Given the description of an element on the screen output the (x, y) to click on. 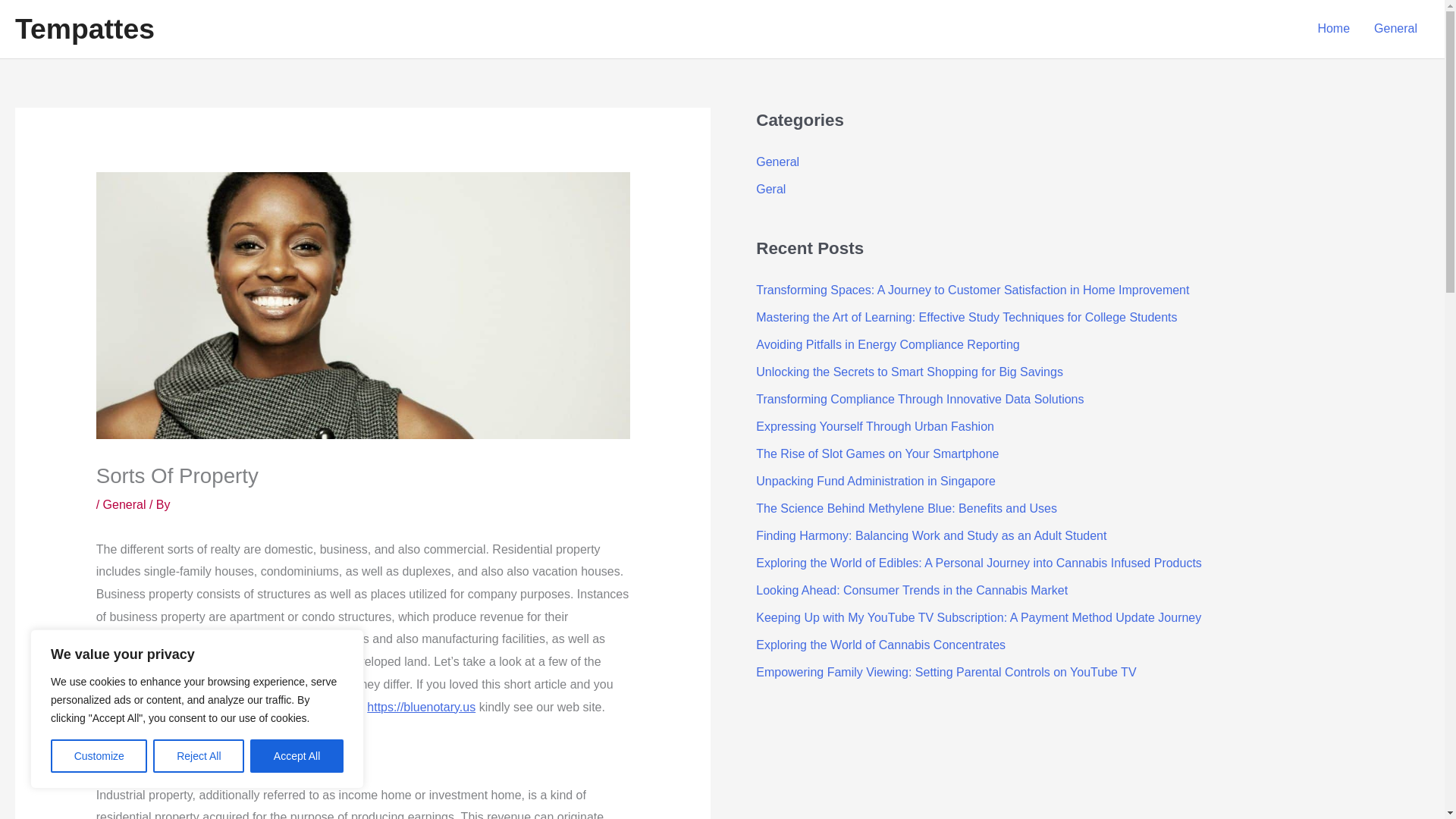
Home (1332, 28)
General (777, 161)
General (1395, 28)
Customize (98, 756)
Geral (770, 188)
Unlocking the Secrets to Smart Shopping for Big Savings (908, 371)
Accept All (296, 756)
Reject All (198, 756)
